Given the description of an element on the screen output the (x, y) to click on. 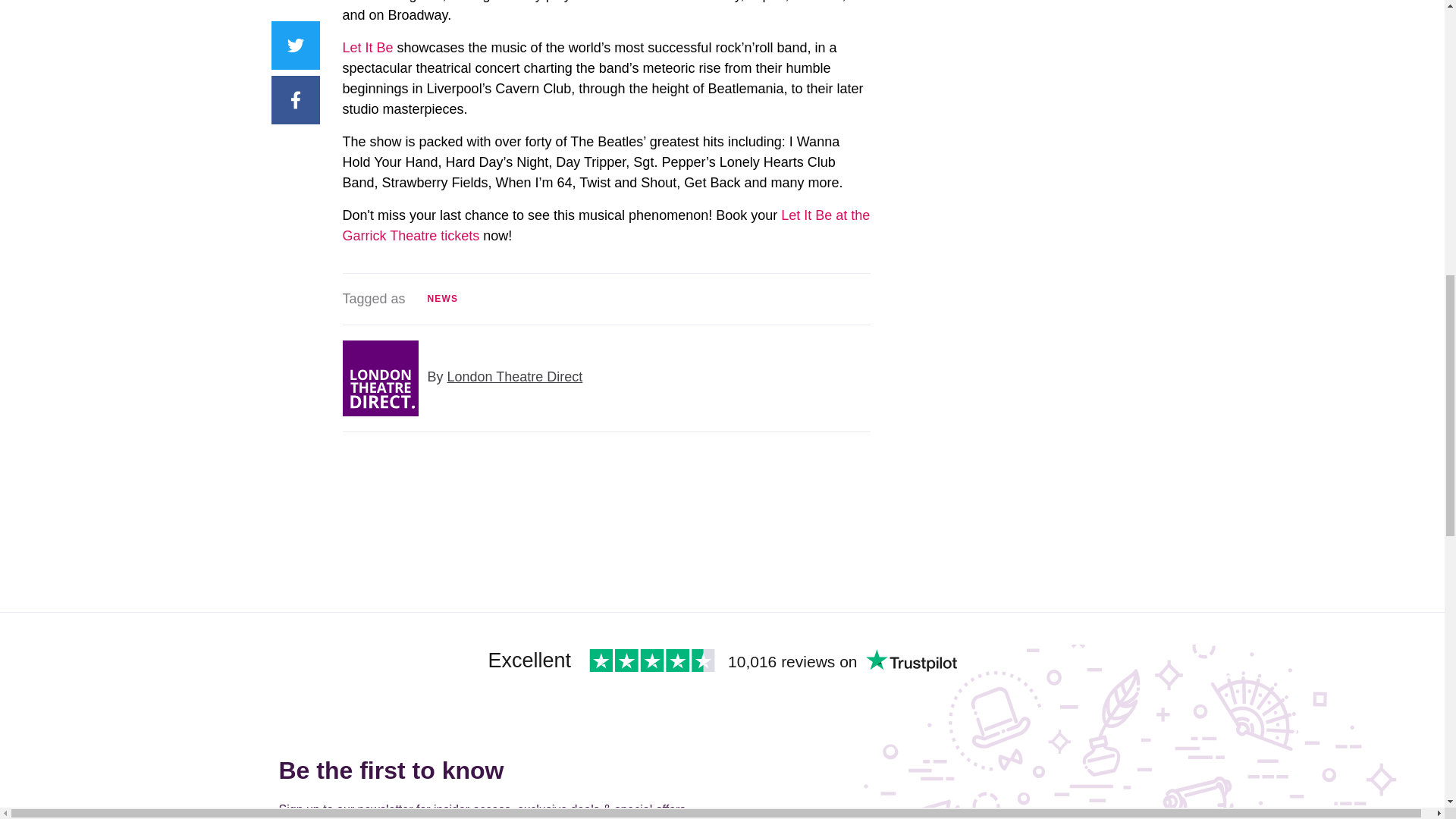
Customer reviews powered by Trustpilot (581, 664)
